Given the description of an element on the screen output the (x, y) to click on. 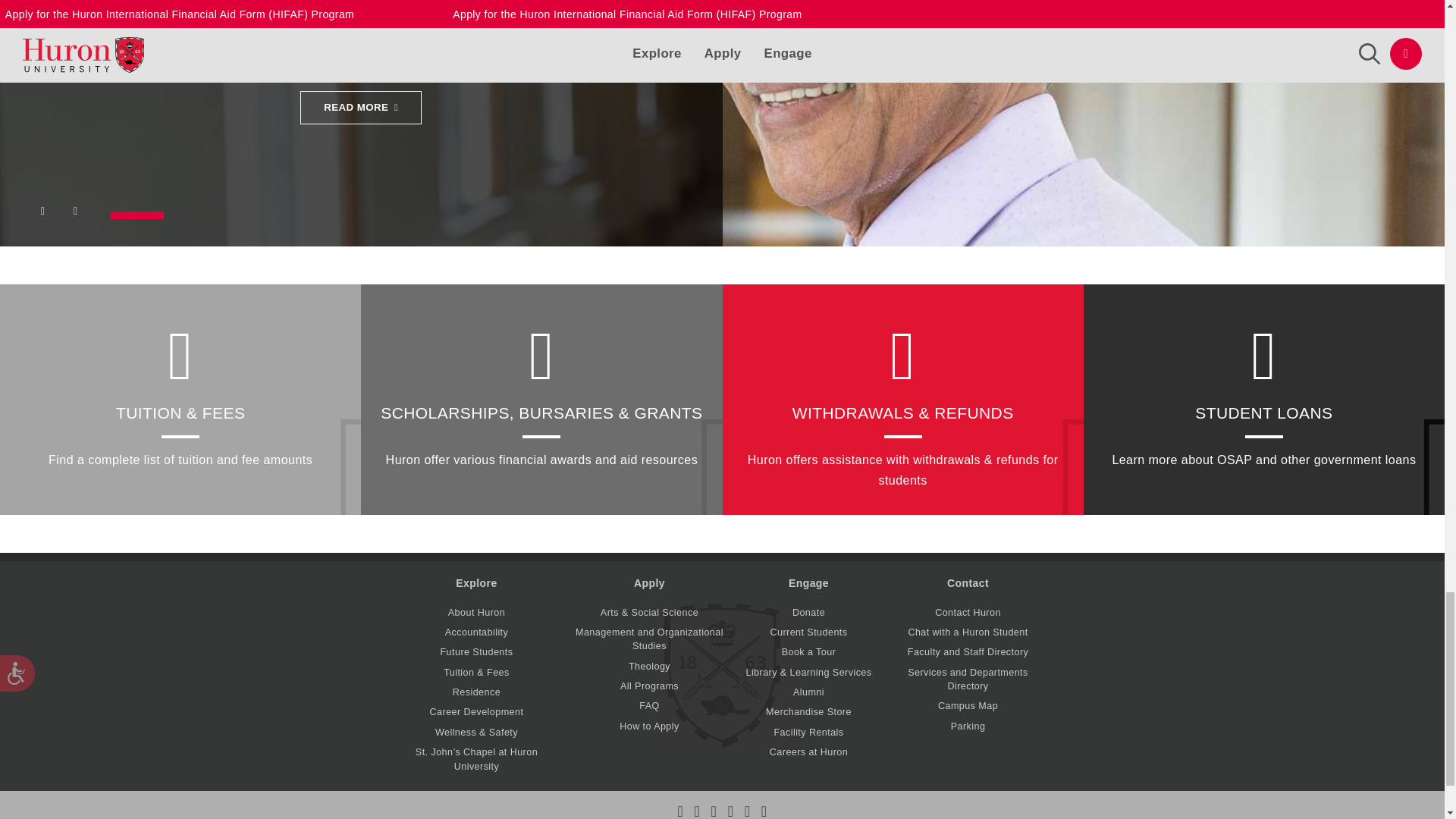
Stop (77, 214)
1 (136, 215)
Start (44, 214)
READ MORE (360, 107)
